Given the description of an element on the screen output the (x, y) to click on. 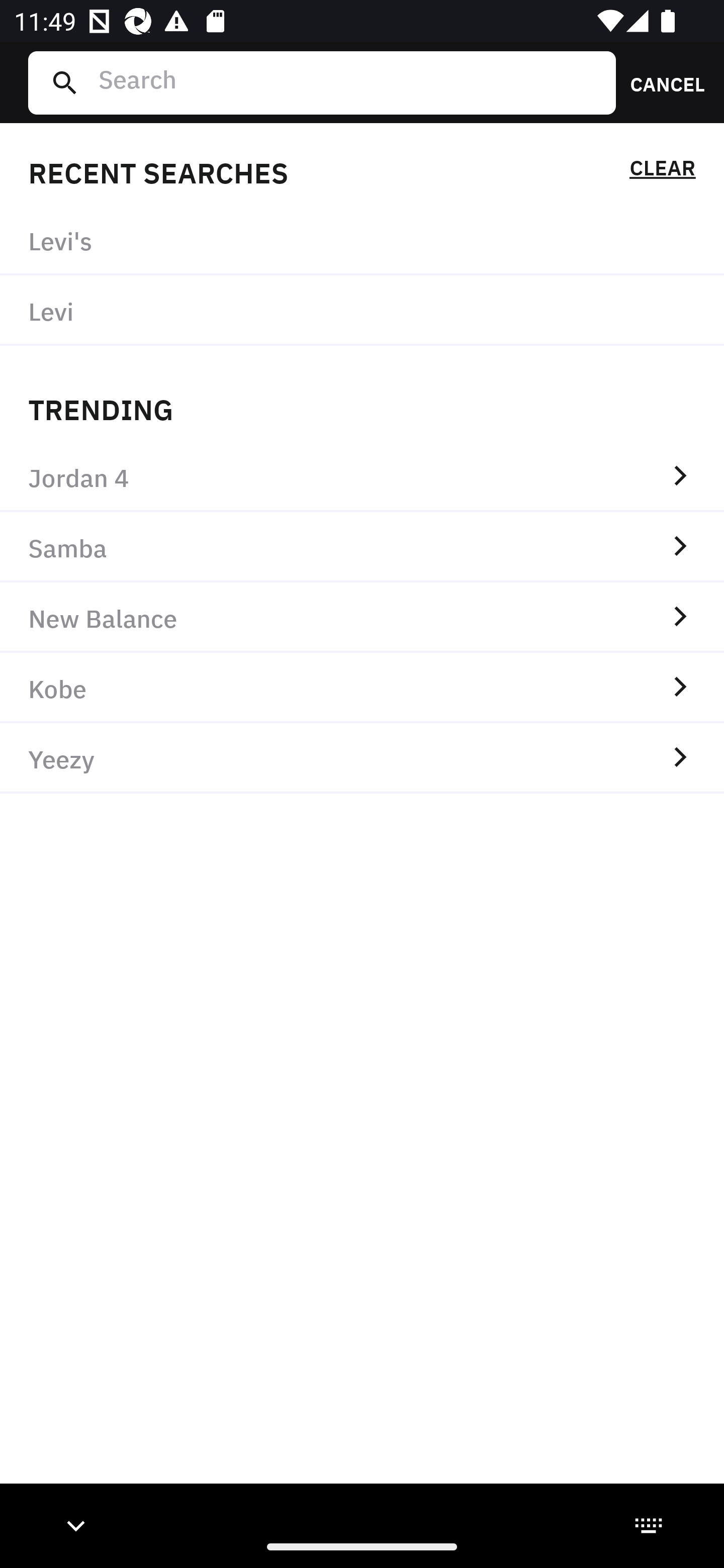
CANCEL (660, 82)
Search (349, 82)
CLEAR (662, 170)
Levi's (362, 240)
Levi (362, 310)
Jordan 4  (362, 477)
Samba  (362, 546)
New Balance  (362, 616)
Kobe  (362, 687)
Yeezy  (362, 757)
